Given the description of an element on the screen output the (x, y) to click on. 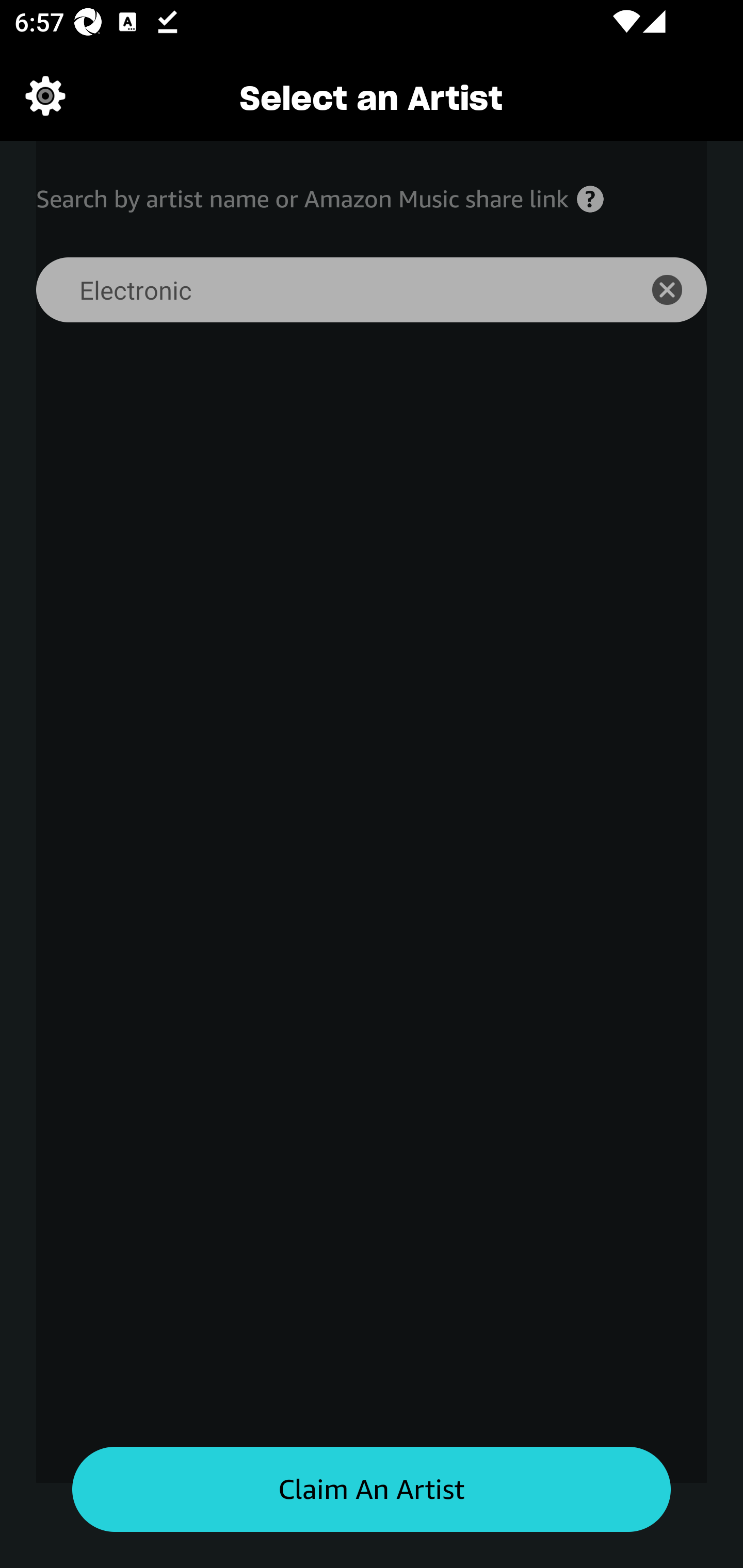
Help  icon (589, 199)
Electronic Search for an artist search bar (324, 290)
 icon (677, 290)
Claim an artist button Claim An Artist (371, 1489)
